Given the description of an element on the screen output the (x, y) to click on. 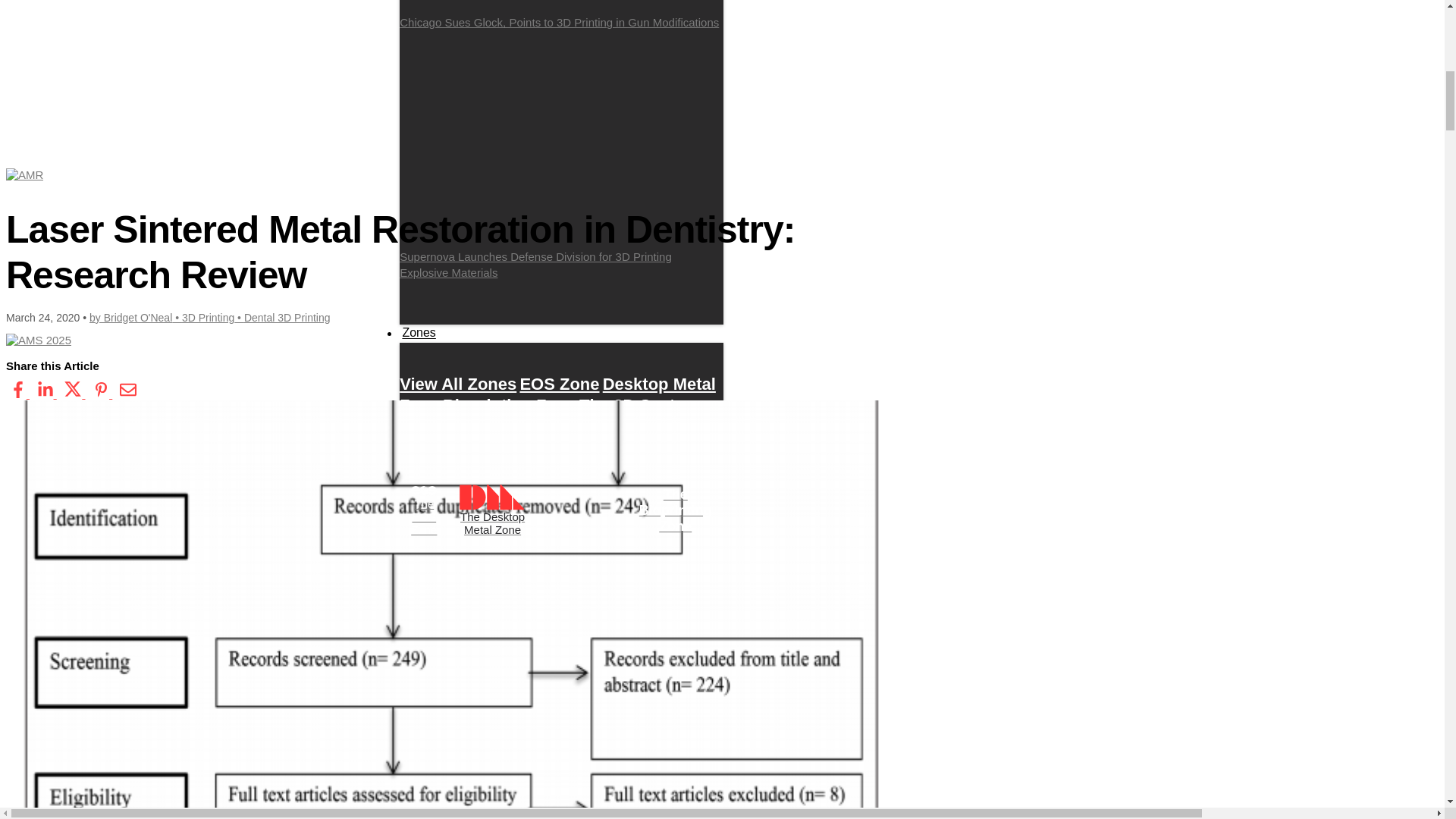
Desktop Metal Zone (557, 394)
The HP Zone (449, 447)
Bioprinting Zone (509, 405)
The 3D Systems Zone (552, 415)
EOS Zone (558, 383)
View All Zones (457, 383)
The Desktop Metal Zone (491, 509)
The Space Zone (567, 447)
3D Printing Stocks Zone (527, 457)
